Given the description of an element on the screen output the (x, y) to click on. 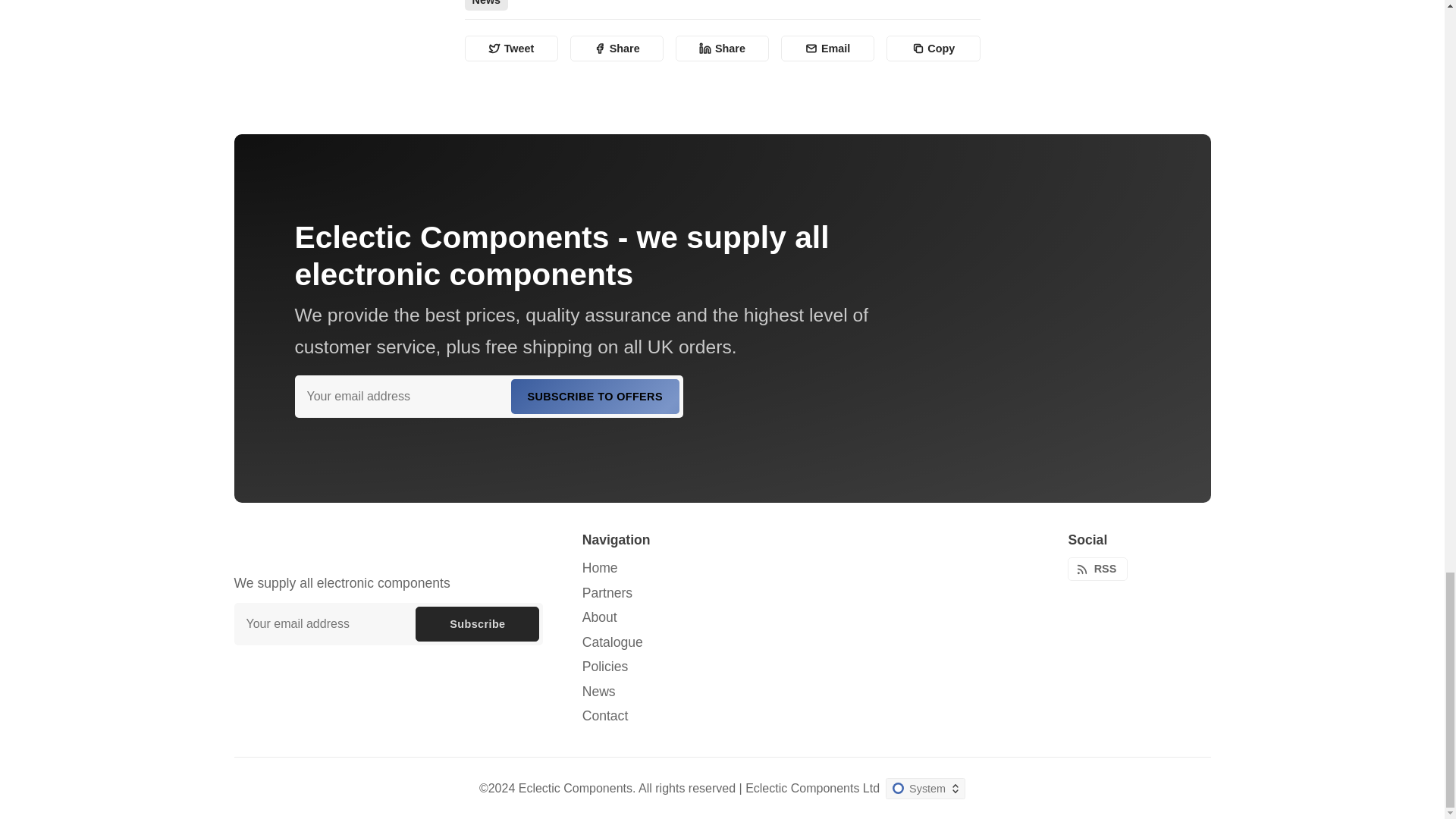
Share on Facebook (616, 48)
News (486, 5)
Copy (932, 48)
Share (616, 48)
Tweet (510, 48)
Share (721, 48)
Share on Twitter (510, 48)
Share on Linkedin (721, 48)
Email (827, 48)
Share by email (827, 48)
Copy to clipboard (932, 48)
